Given the description of an element on the screen output the (x, y) to click on. 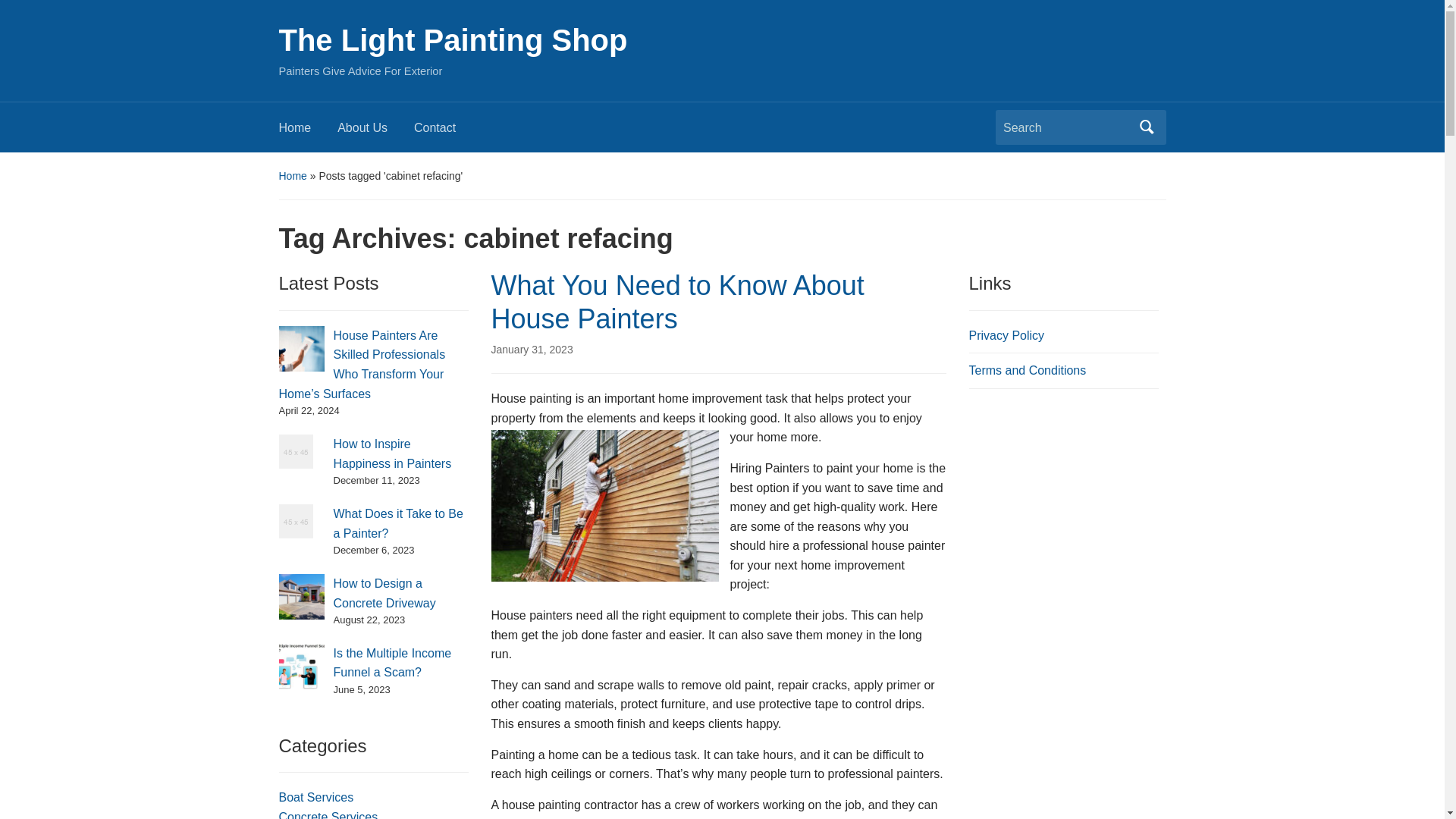
How to Design a Concrete Driveway (384, 593)
The Light Painting Shop (453, 39)
About Us (375, 131)
The Light Painting Shop - Painters Give Advice For Exterior (453, 39)
Home (308, 131)
Concrete Services (328, 814)
Is the Multiple Income Funnel a Scam? (392, 663)
Permanent Link to What You Need to Know About House Painters (532, 349)
Boat Services (316, 797)
Contact (447, 131)
